Given the description of an element on the screen output the (x, y) to click on. 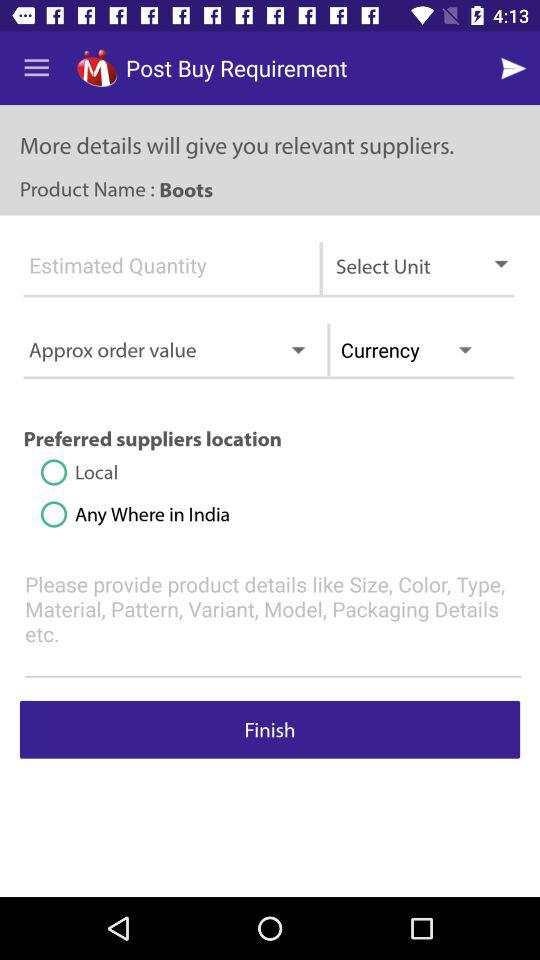
go next (516, 68)
